Given the description of an element on the screen output the (x, y) to click on. 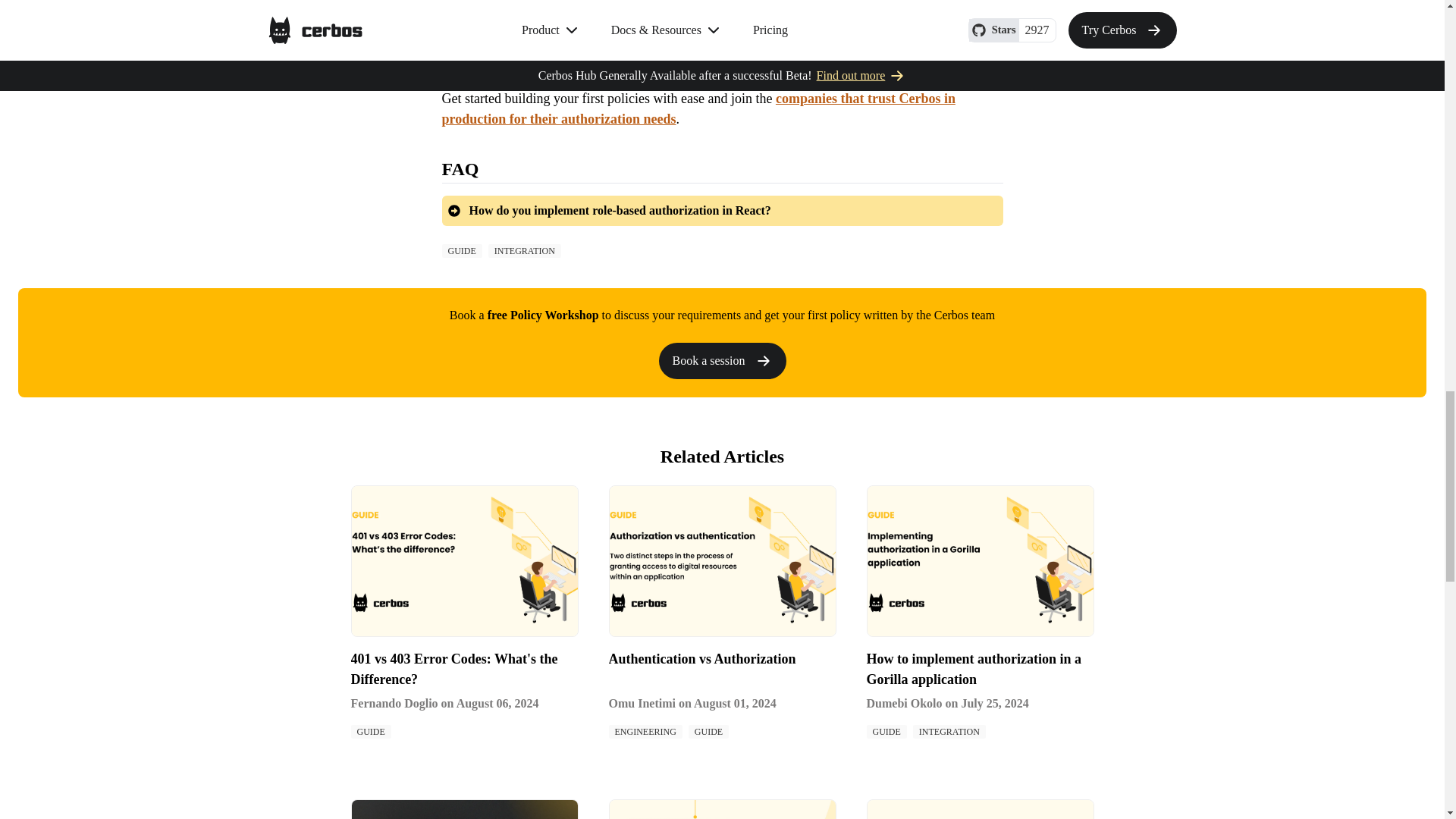
Cerbos ecosystem (520, 20)
Cerbos playground (524, 2)
Book a session (721, 360)
Book a session (722, 361)
Cerbos Hub (604, 64)
